Given the description of an element on the screen output the (x, y) to click on. 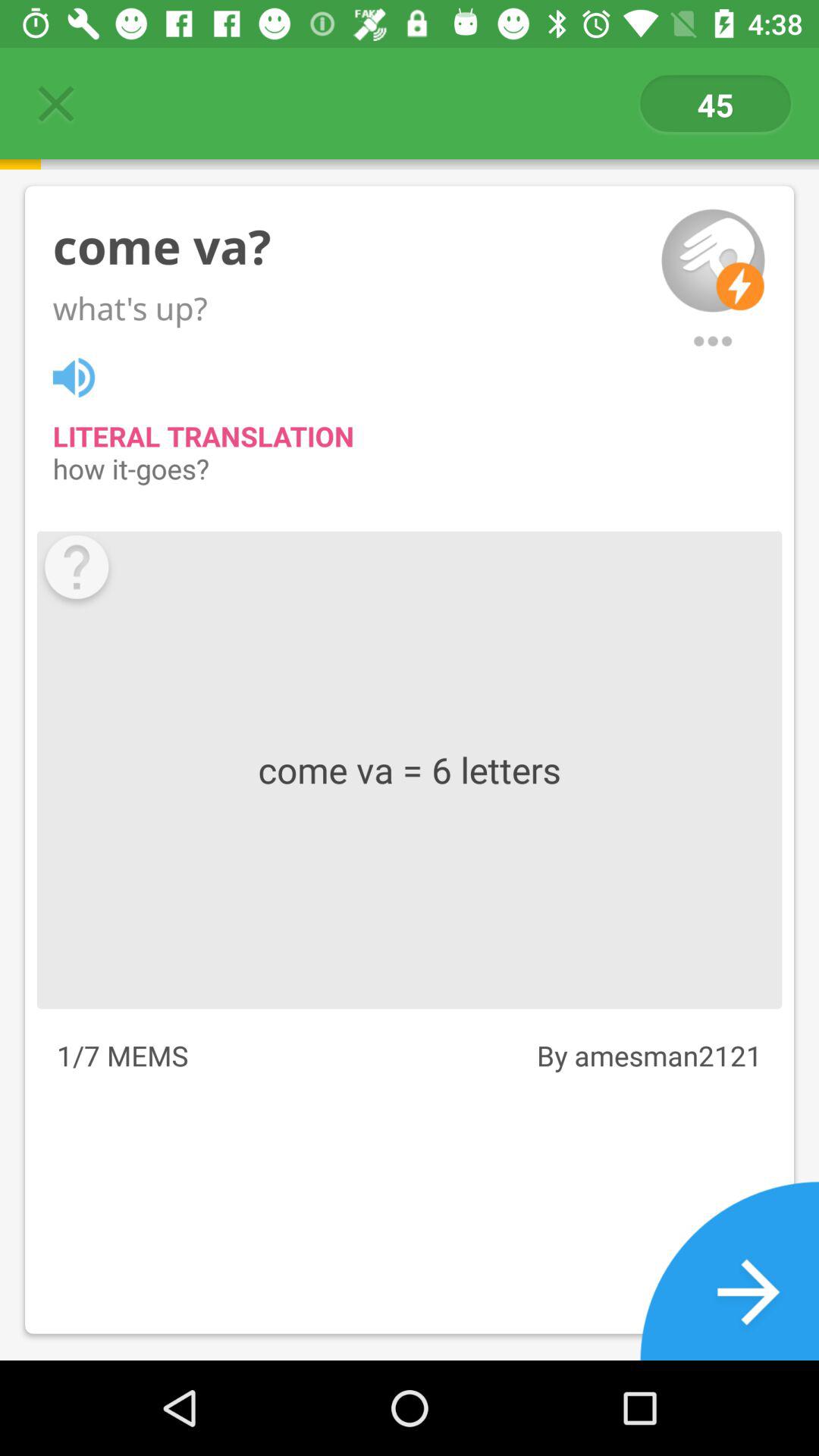
search (712, 341)
